Given the description of an element on the screen output the (x, y) to click on. 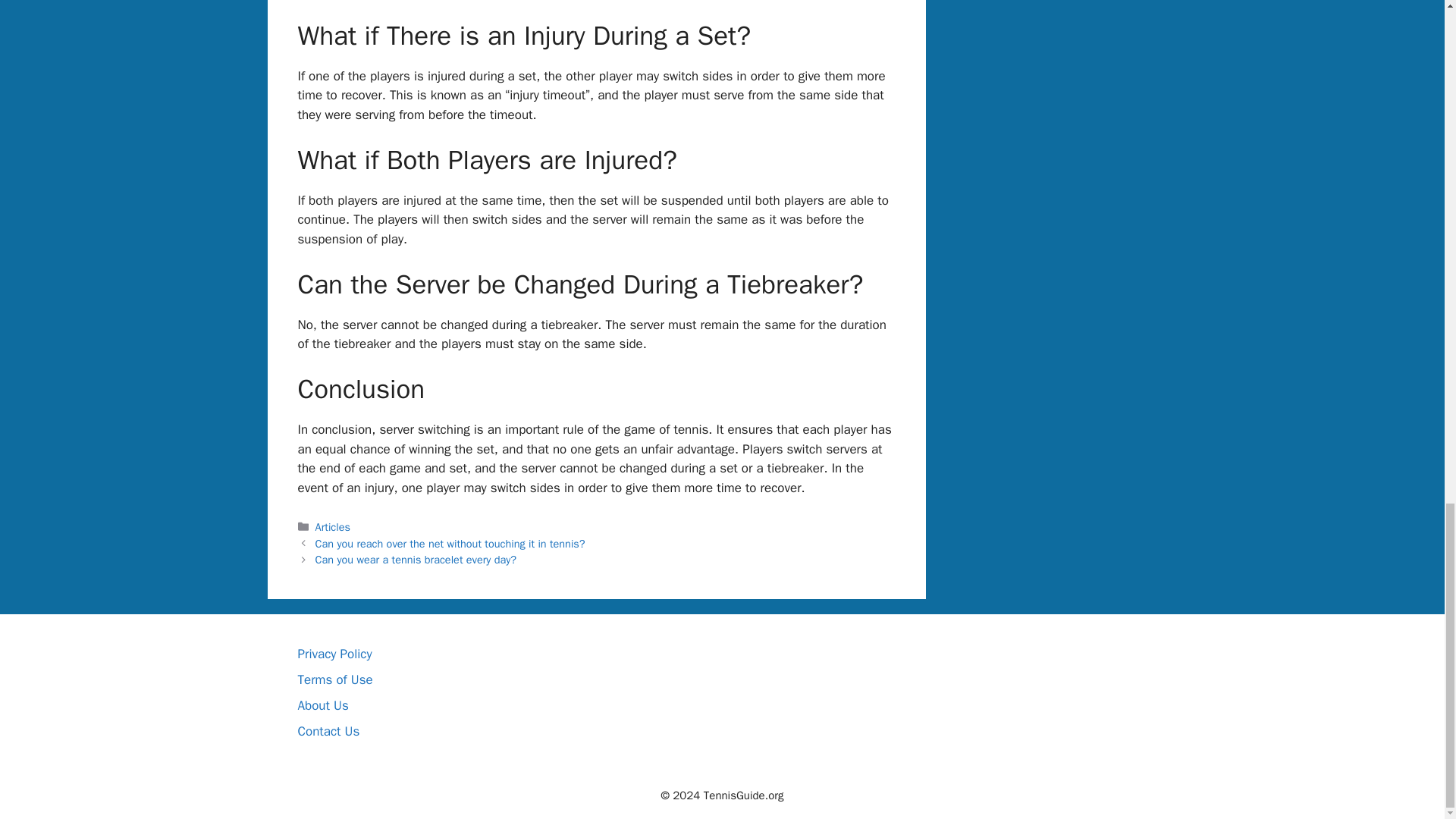
Scroll back to top (1406, 213)
Contact Us (328, 731)
Can you reach over the net without touching it in tennis? (450, 543)
Privacy Policy (334, 653)
Articles (332, 526)
Terms of Use (334, 679)
Can you wear a tennis bracelet every day? (415, 559)
About Us (322, 705)
